Given the description of an element on the screen output the (x, y) to click on. 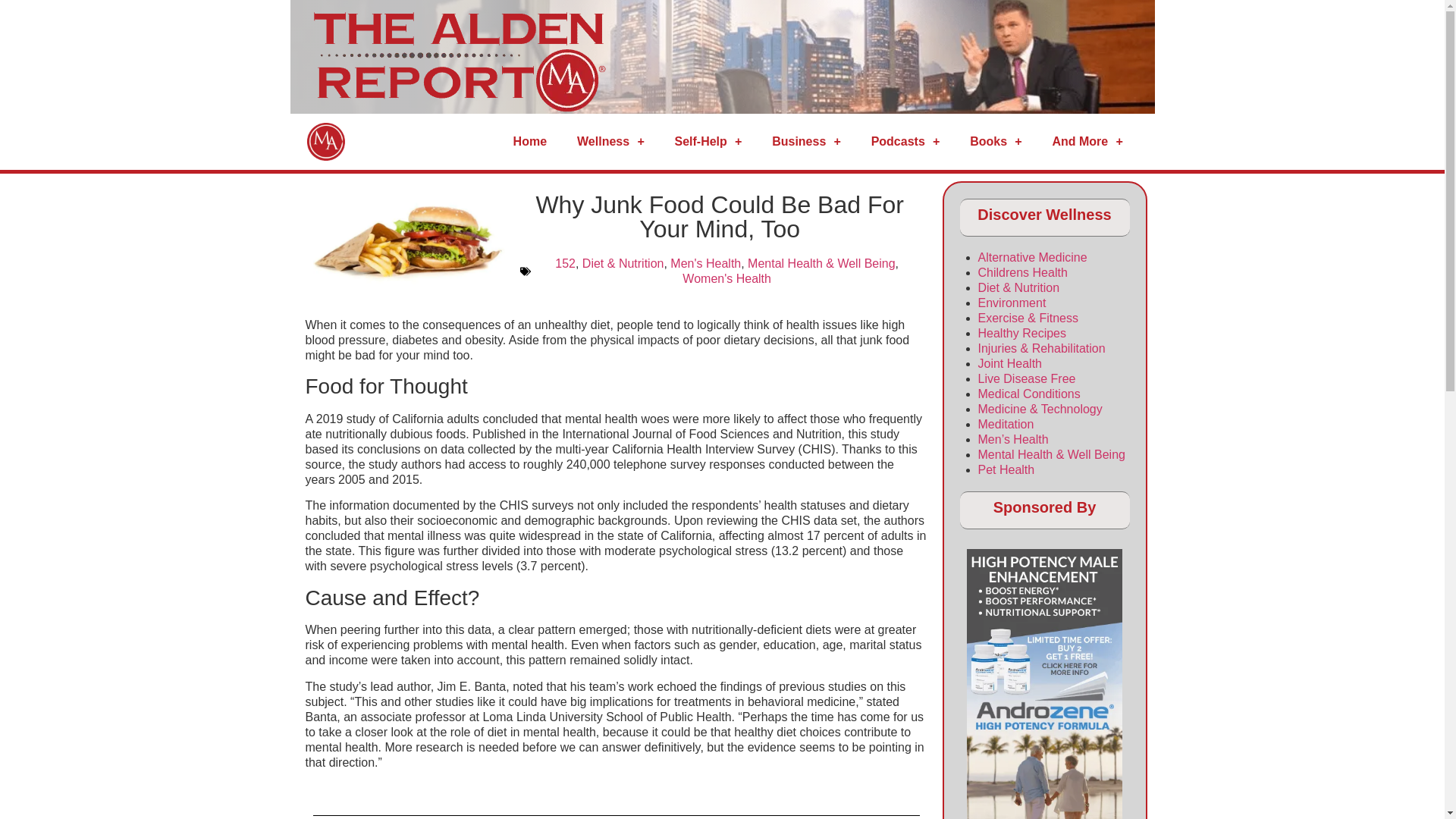
Home (529, 141)
Wellness (610, 141)
Self-Help (708, 141)
Business (806, 141)
Podcasts (905, 141)
